Given the description of an element on the screen output the (x, y) to click on. 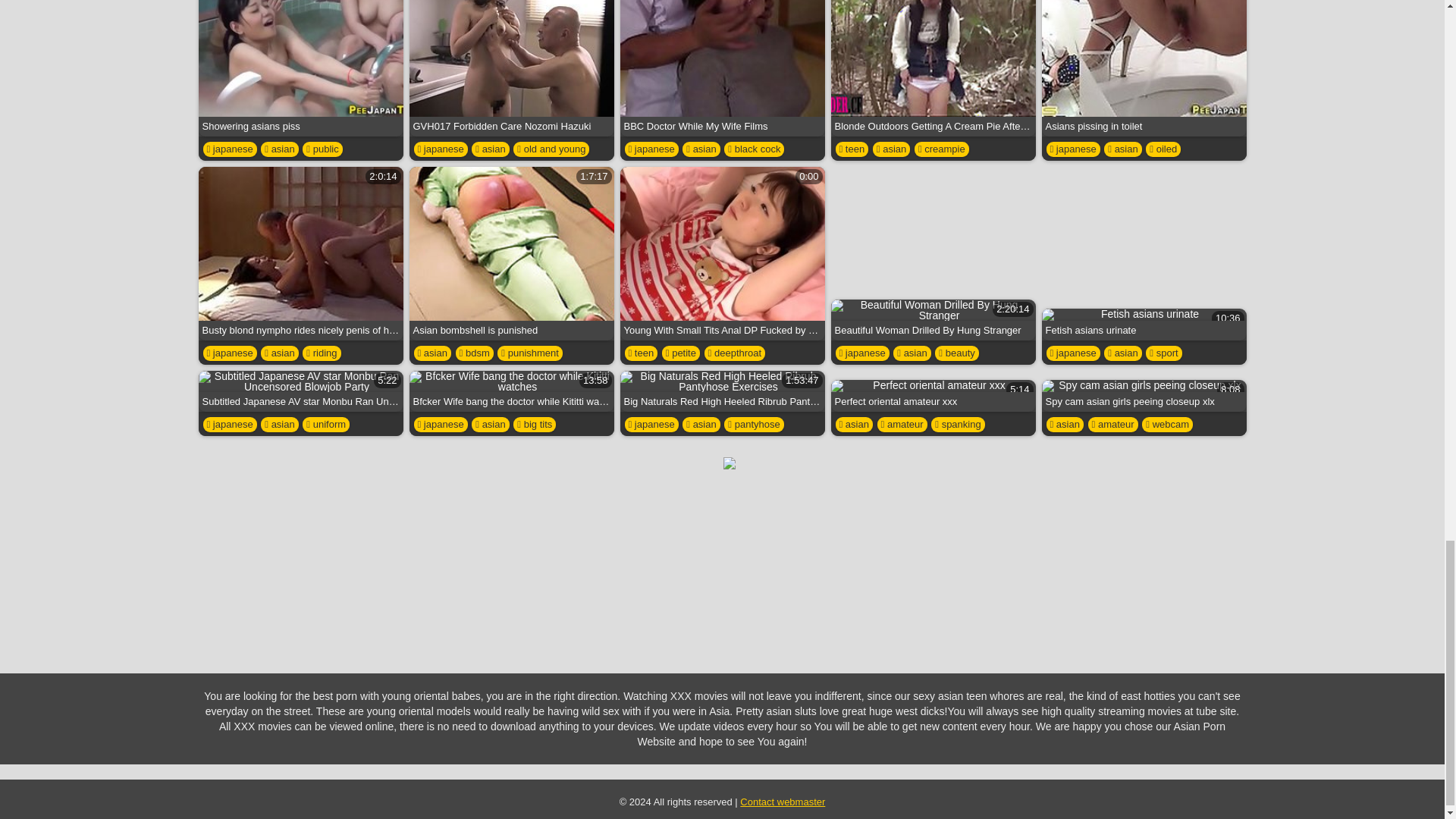
GVH017 Forbidden Care Nozomi Hazuki (511, 68)
Blonde Outdoors Getting A Cream Pie After Having Sex (933, 68)
BBC Doctor While My Wife Films (722, 68)
Showering asians piss (300, 68)
Asians pissing in toilet (1144, 68)
